Given the description of an element on the screen output the (x, y) to click on. 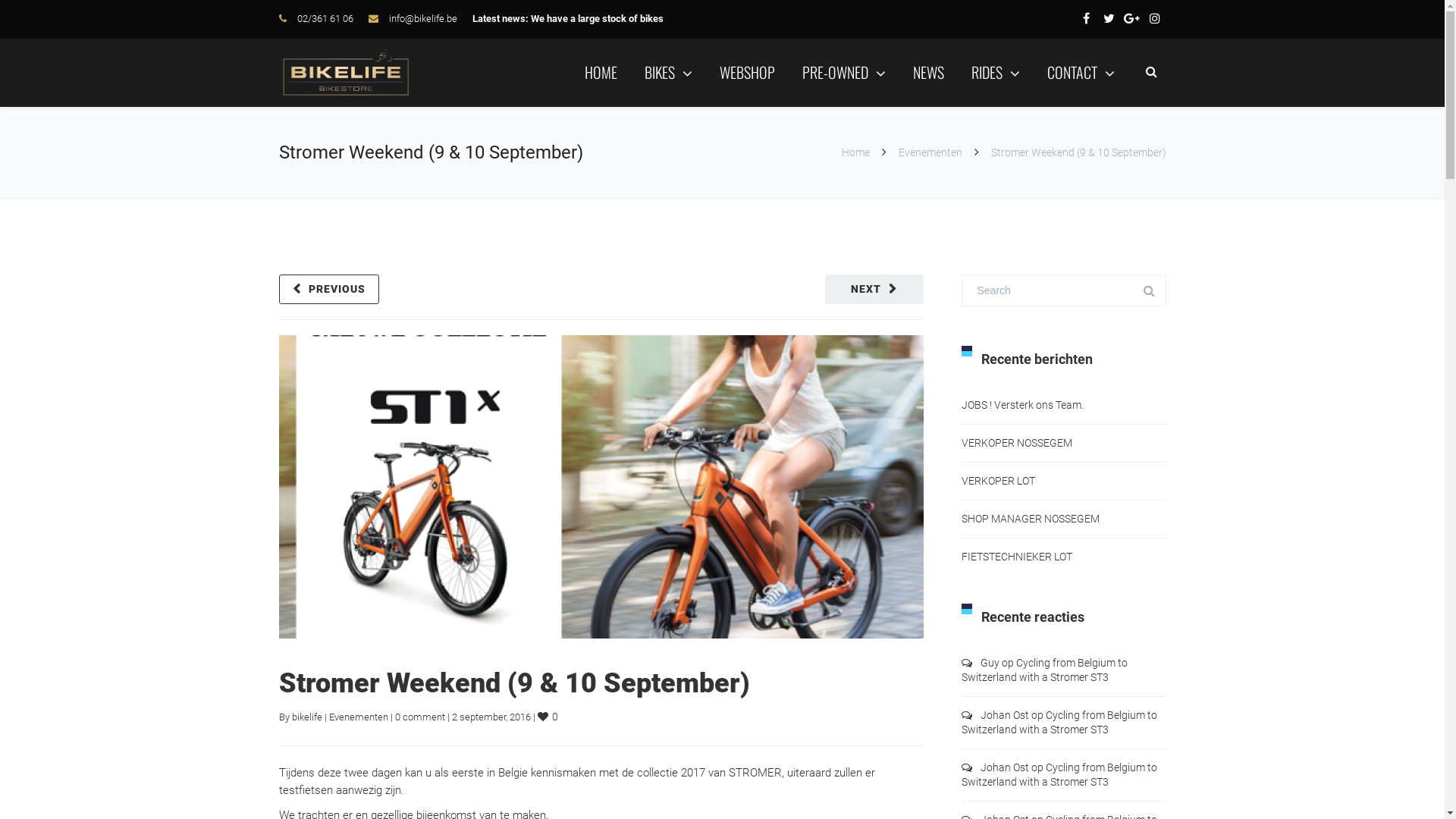
PREVIOUS Element type: text (329, 289)
Home Element type: text (855, 152)
VERKOPER LOT Element type: text (998, 480)
0 comment Element type: text (419, 716)
RIDES Element type: text (994, 71)
Cycling from Belgium to Switzerland with a Stromer ST3 Element type: text (1059, 774)
Cycling from Belgium to Switzerland with a Stromer ST3 Element type: text (1059, 722)
Evenementen Element type: text (358, 716)
HOME Element type: text (599, 71)
Stromer Weekend (9 & 10 September) Element type: text (514, 683)
SHOP MANAGER NOSSEGEM Element type: text (1030, 518)
Bikelife Element type: hover (345, 72)
bikelife Element type: text (306, 716)
Cycling from Belgium to Switzerland with a Stromer ST3 Element type: text (1044, 669)
CONTACT Element type: text (1079, 71)
NEWS Element type: text (928, 71)
VERKOPER NOSSEGEM Element type: text (1016, 442)
FIETSTECHNIEKER LOT Element type: text (1016, 556)
NEXT Element type: text (874, 289)
JOBS ! Versterk ons Team. Element type: text (1022, 404)
info@bikelife.be Element type: text (422, 18)
Evenementen Element type: text (929, 152)
Guy Element type: text (988, 662)
0  Element type: text (547, 716)
BIKES Element type: text (668, 71)
PRE-OWNED Element type: text (843, 71)
WEBSHOP Element type: text (746, 71)
